Given the description of an element on the screen output the (x, y) to click on. 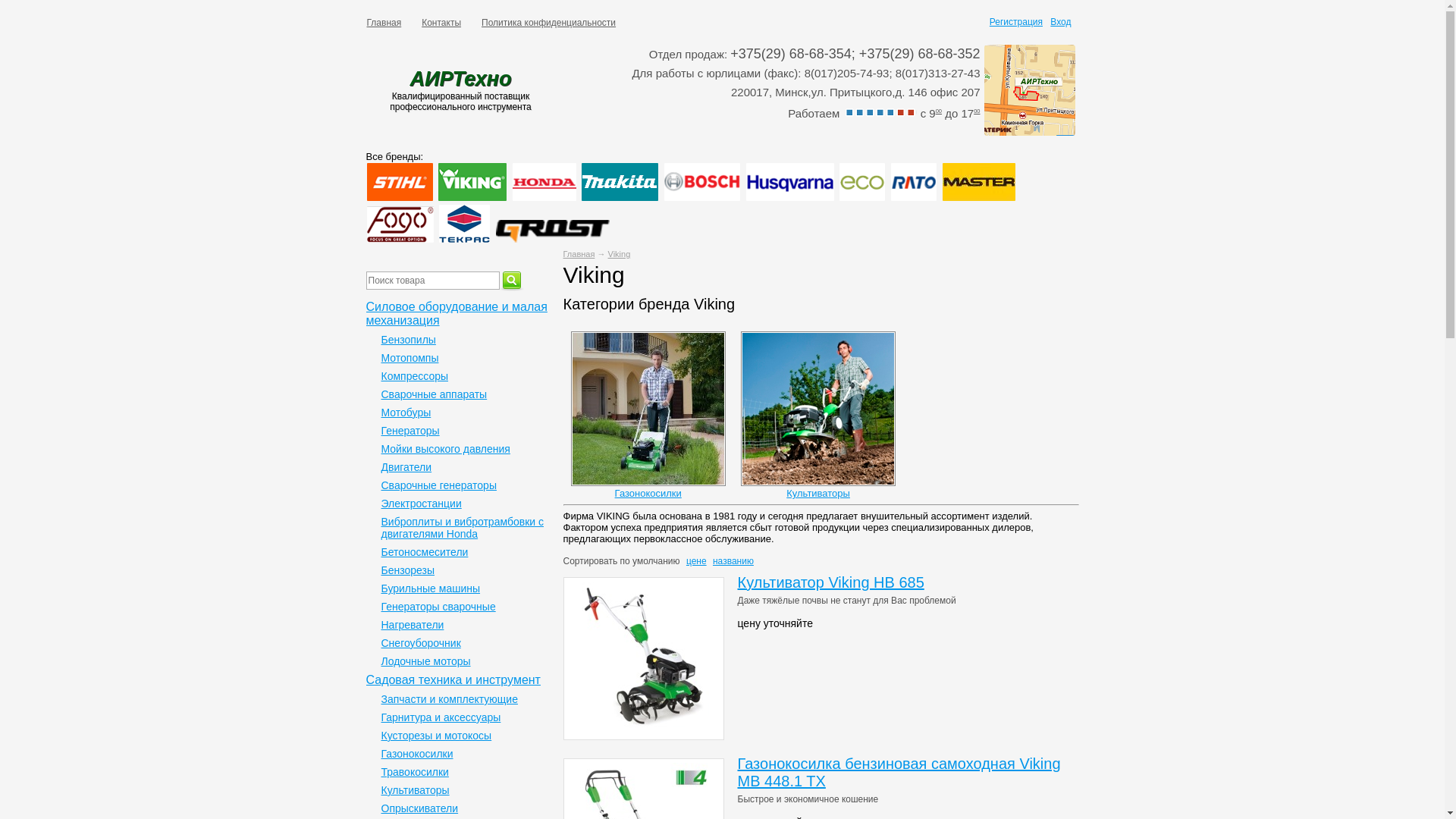
Viking Element type: text (619, 253)
